Given the description of an element on the screen output the (x, y) to click on. 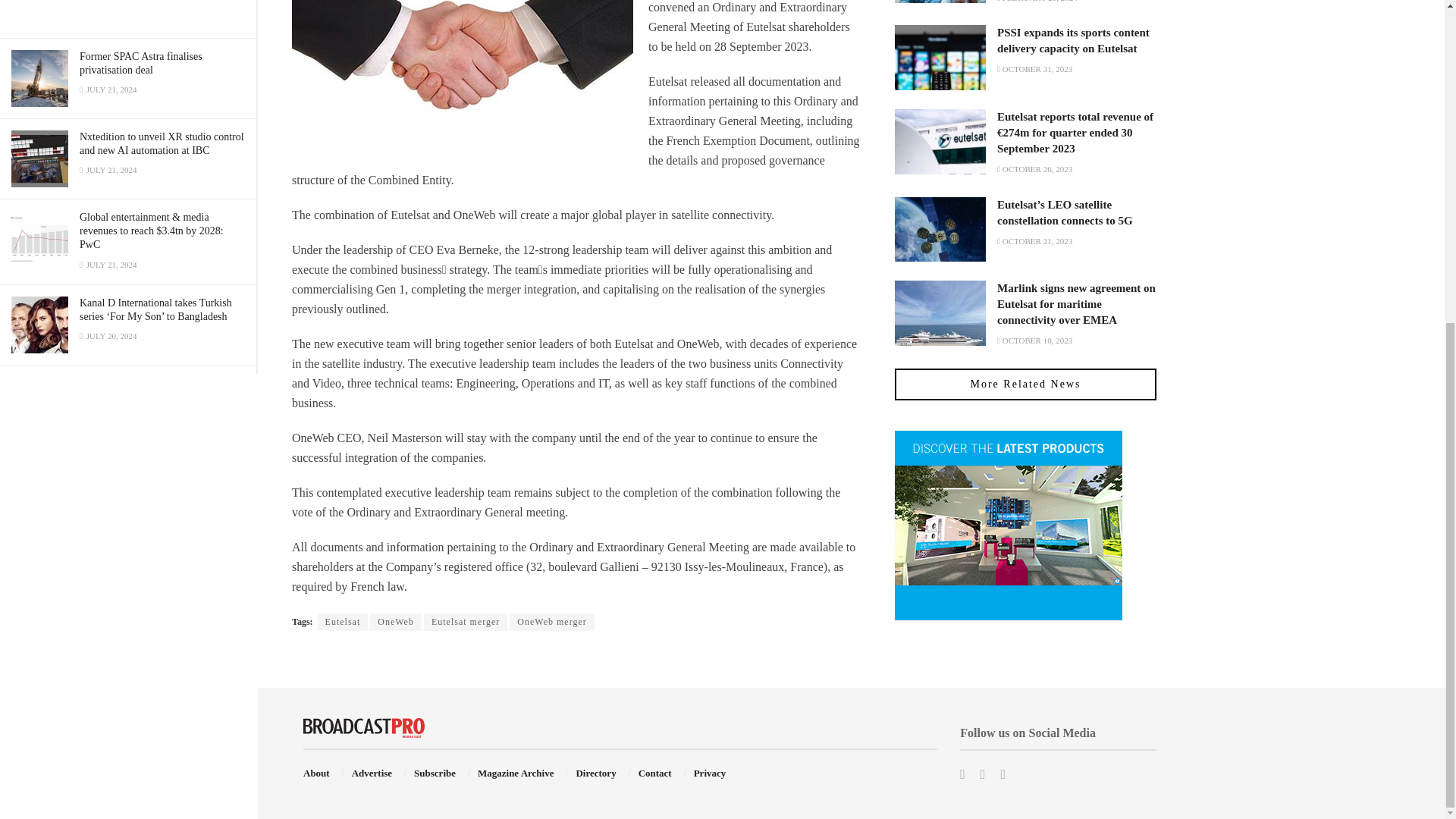
3rd party ad content (127, 13)
Former SPAC Astra finalises privatisation deal (141, 63)
